Given the description of an element on the screen output the (x, y) to click on. 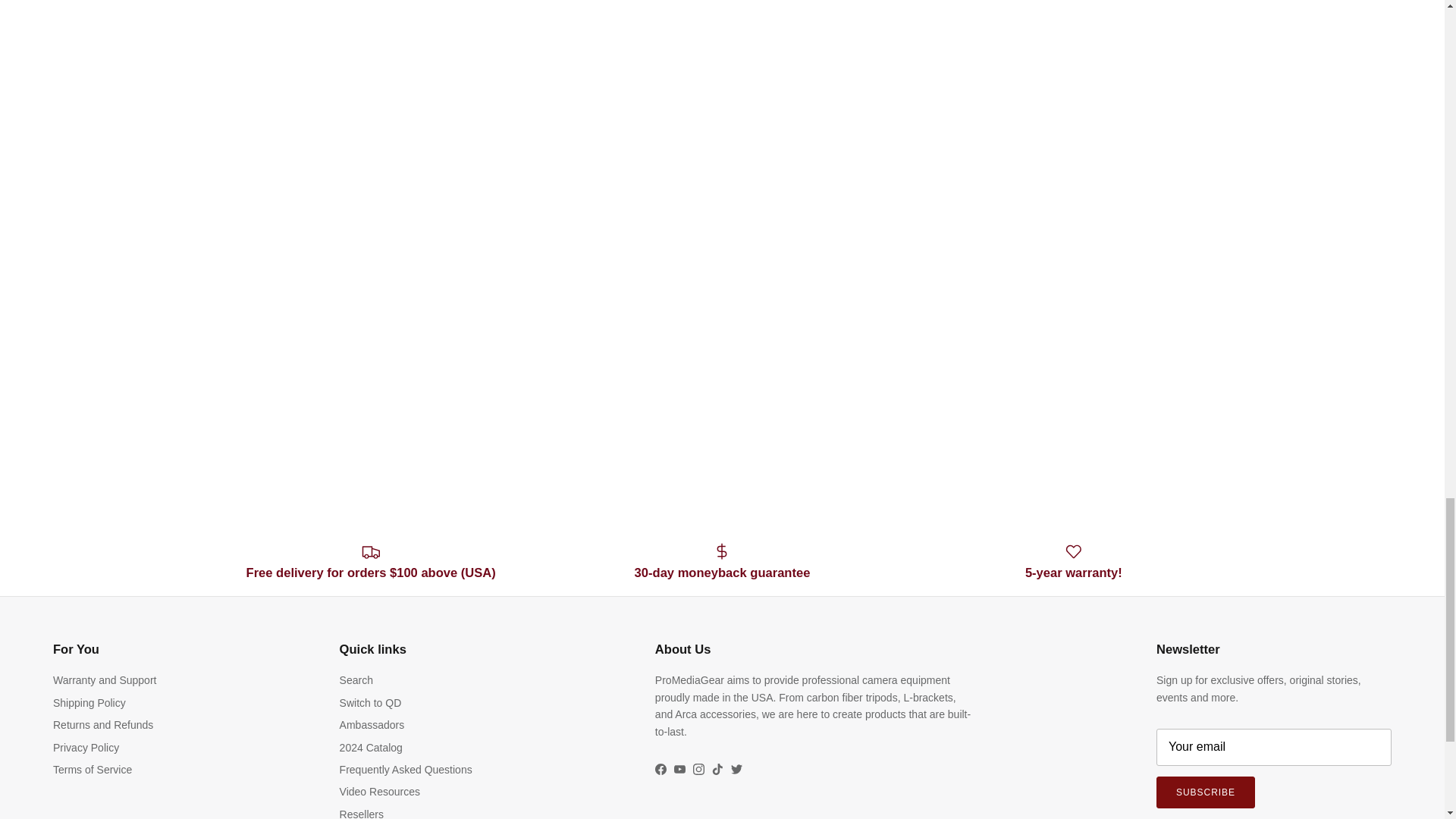
ProMediaGear on Twitter (736, 768)
ProMediaGear on YouTube (679, 768)
ProMediaGear on TikTok (717, 768)
ProMediaGear on Instagram (698, 768)
ProMediaGear on Facebook (660, 768)
